Given the description of an element on the screen output the (x, y) to click on. 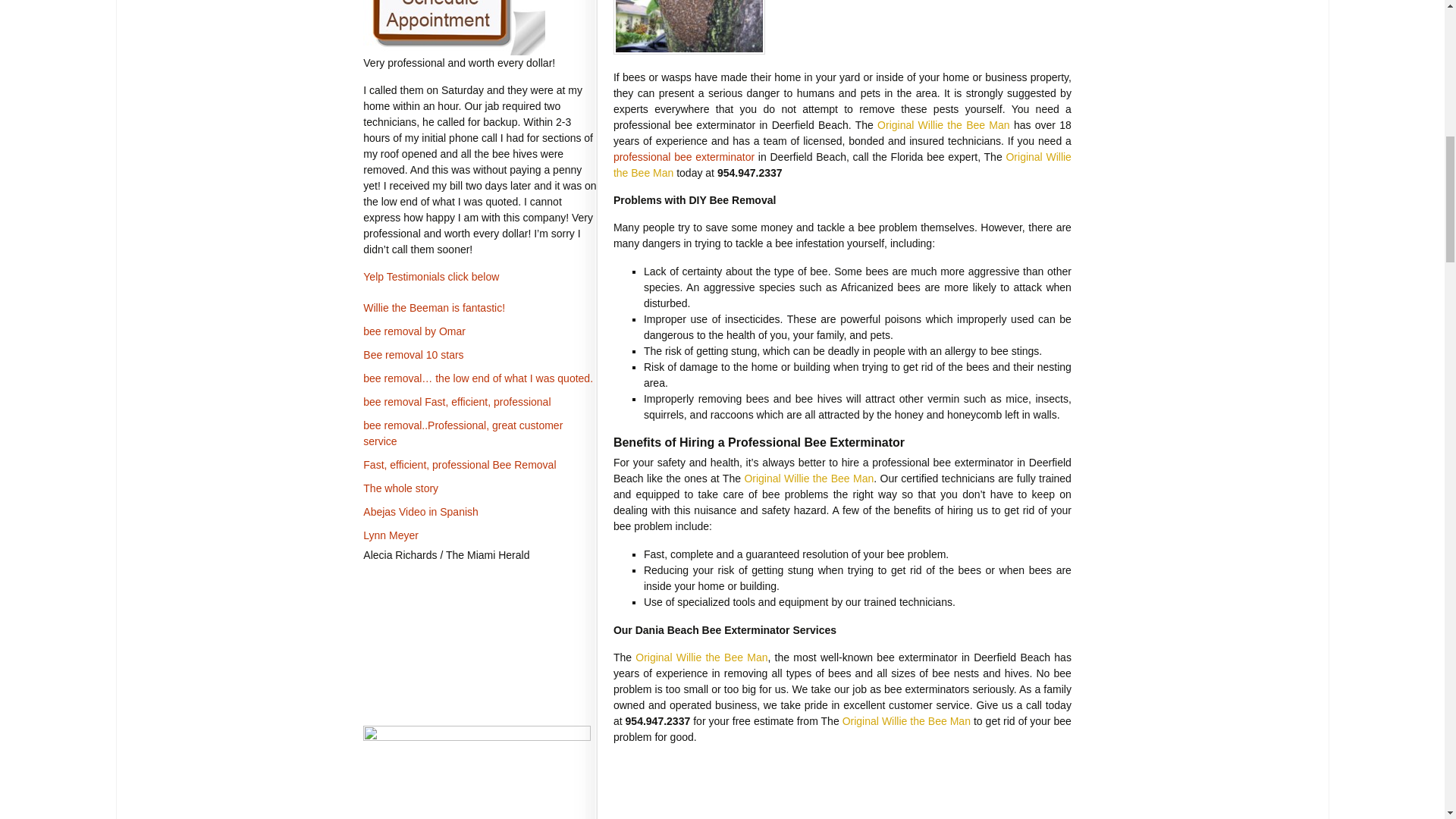
bee removal by Omar (413, 331)
The whole story (400, 488)
professional bee exterminator (683, 156)
Fast, efficient, professional Bee Removal (459, 464)
Willie the Beeman is fantastic! (433, 307)
bee removal..Professional, great customer service (462, 433)
Bee removal 10 stars (412, 354)
bee removal Fast, efficient, professional (456, 401)
Yelp Testimonials click below (430, 276)
